Given the description of an element on the screen output the (x, y) to click on. 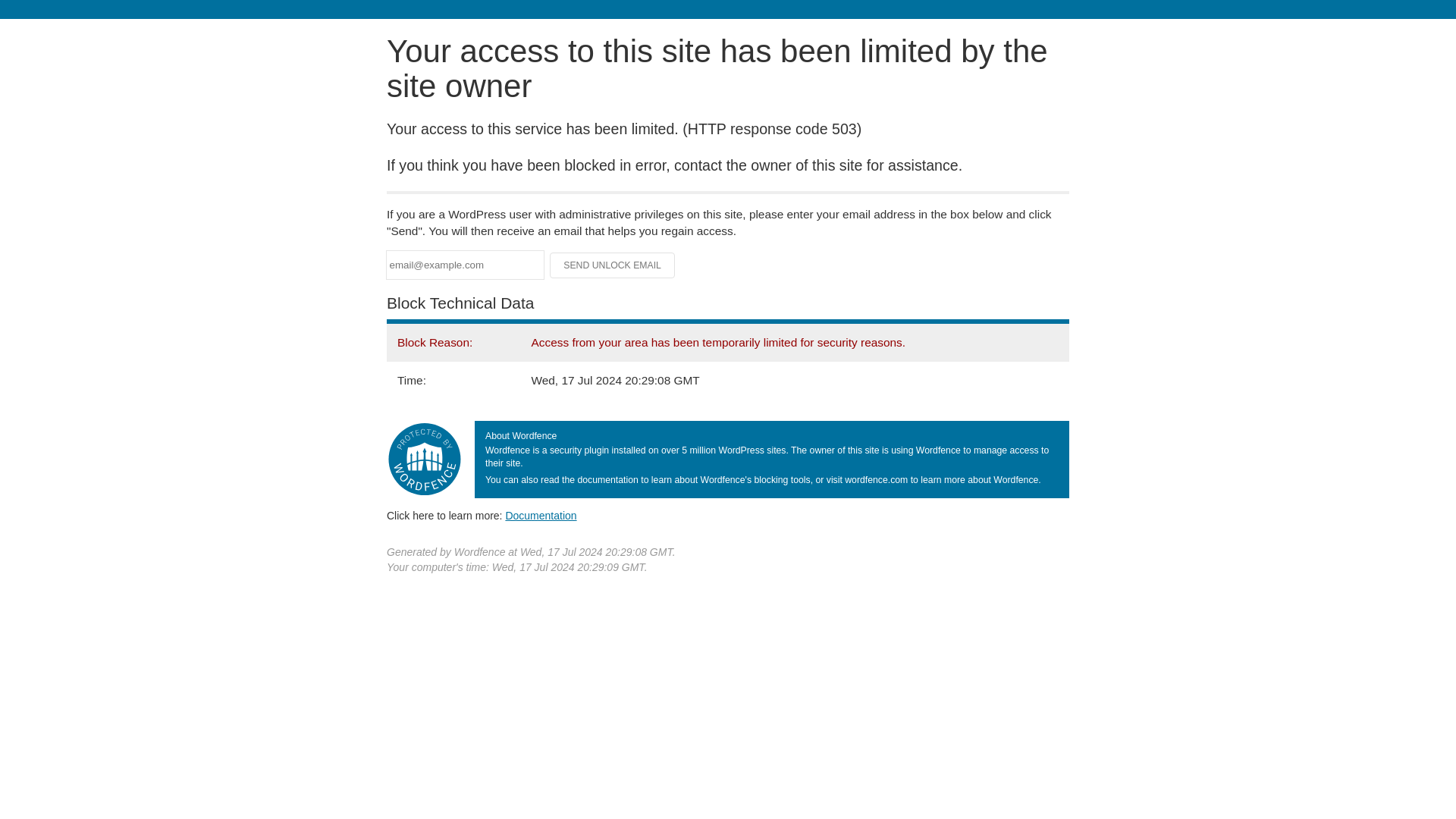
Documentation (540, 515)
Send Unlock Email (612, 265)
Send Unlock Email (612, 265)
